Given the description of an element on the screen output the (x, y) to click on. 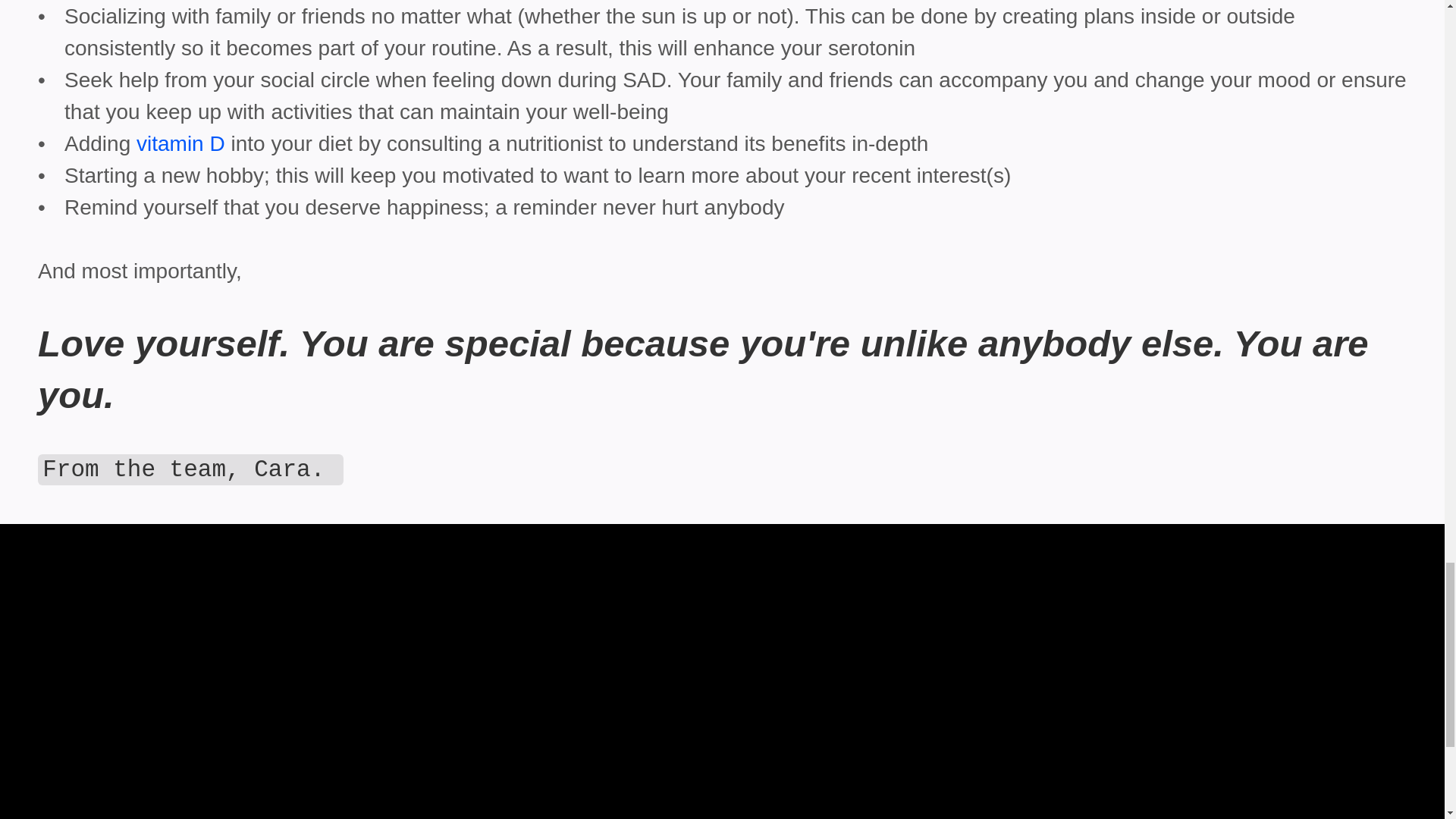
vitamin D (180, 143)
